Given the description of an element on the screen output the (x, y) to click on. 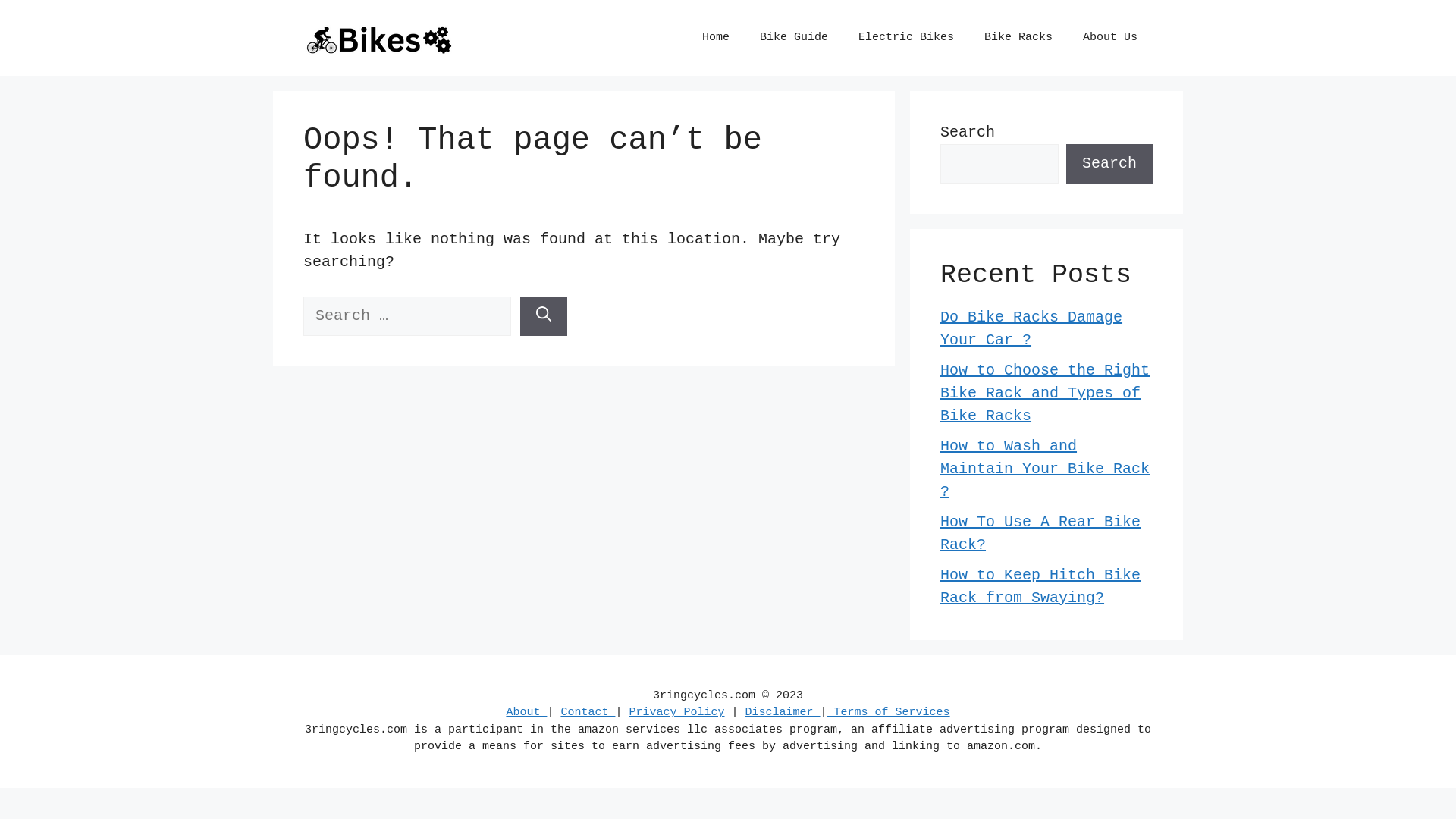
Search Element type: text (1109, 163)
Contact Element type: text (587, 712)
Do Bike Racks Damage Your Car ? Element type: text (1031, 328)
How To Use A Rear Bike Rack? Element type: text (1040, 533)
Home Element type: text (715, 37)
Disclaimer Element type: text (782, 712)
How to Keep Hitch Bike Rack from Swaying? Element type: text (1040, 586)
Bike Guide Element type: text (793, 37)
How to Wash and Maintain Your Bike Rack ? Element type: text (1044, 468)
About Us Element type: text (1109, 37)
How to Choose the Right Bike Rack and Types of Bike Racks Element type: text (1044, 392)
Search for: Element type: hover (407, 315)
Privacy Policy Element type: text (676, 712)
Electric Bikes Element type: text (906, 37)
About Element type: text (525, 712)
Terms of Services Element type: text (888, 712)
Bike Racks Element type: text (1018, 37)
